Given the description of an element on the screen output the (x, y) to click on. 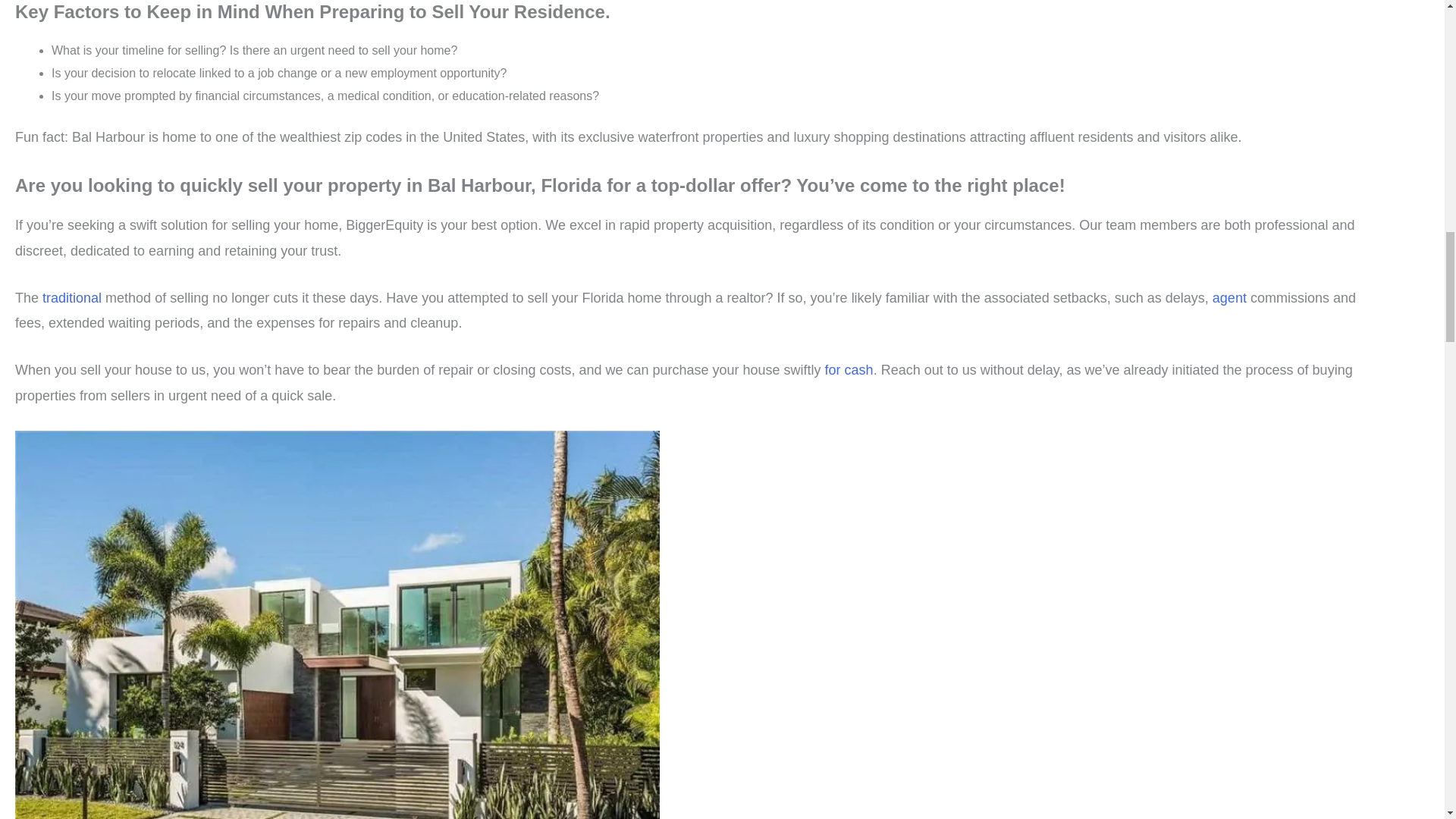
for cash (849, 369)
agent (1231, 297)
traditional (73, 297)
